Given the description of an element on the screen output the (x, y) to click on. 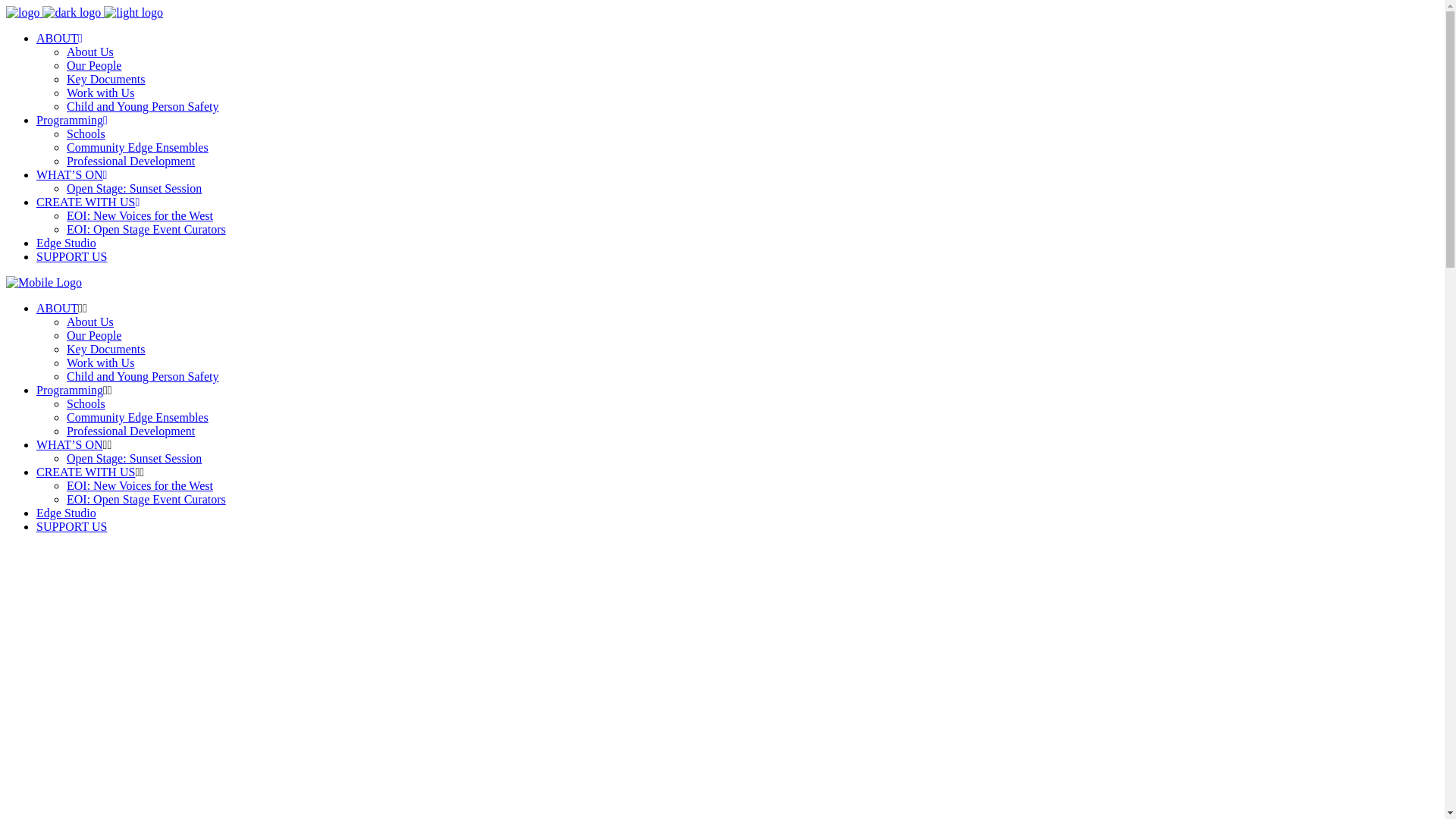
About Us Element type: text (89, 51)
CREATE WITH US Element type: text (87, 201)
Work with Us Element type: text (100, 362)
Our People Element type: text (93, 335)
Child and Young Person Safety Element type: text (142, 106)
Edge Studio Element type: text (66, 512)
EOI: Open Stage Event Curators Element type: text (145, 228)
SUPPORT US Element type: text (71, 256)
Schools Element type: text (85, 403)
Community Edge Ensembles Element type: text (137, 417)
ABOUT Element type: text (59, 37)
SUPPORT US Element type: text (71, 526)
Programming Element type: text (69, 389)
Key Documents Element type: text (105, 348)
Key Documents Element type: text (105, 78)
Schools Element type: text (85, 133)
Open Stage: Sunset Session Element type: text (133, 188)
Work with Us Element type: text (100, 92)
Our People Element type: text (93, 65)
About Us Element type: text (89, 321)
EOI: Open Stage Event Curators Element type: text (145, 498)
EOI: New Voices for the West Element type: text (139, 485)
Open Stage: Sunset Session Element type: text (133, 457)
Professional Development Element type: text (130, 430)
ABOUT Element type: text (57, 307)
Programming Element type: text (71, 119)
Edge Studio Element type: text (66, 242)
Child and Young Person Safety Element type: text (142, 376)
EOI: New Voices for the West Element type: text (139, 215)
Professional Development Element type: text (130, 160)
CREATE WITH US Element type: text (85, 471)
Community Edge Ensembles Element type: text (137, 147)
